Given the description of an element on the screen output the (x, y) to click on. 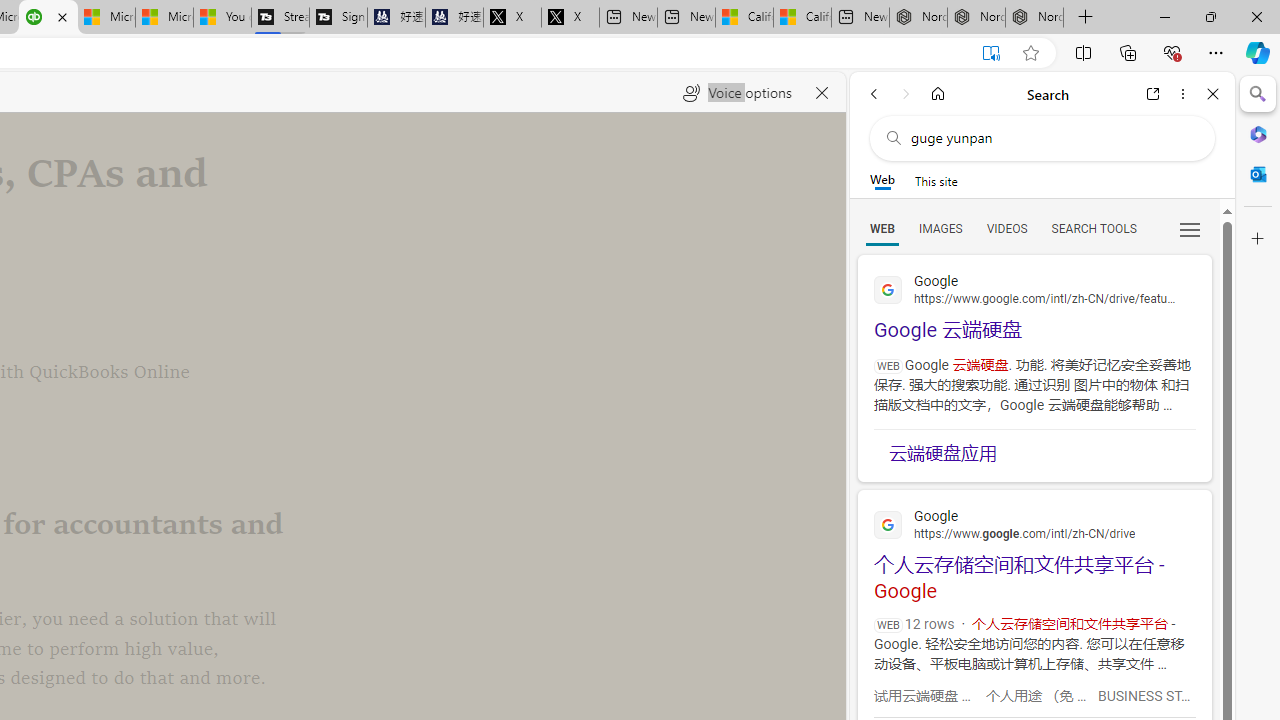
Search Filter, VIDEOS (1006, 228)
Accounting Software for Accountants, CPAs and Bookkeepers (48, 17)
Google (1034, 523)
Open link in new tab (1153, 93)
Search Filter, Search Tools (1093, 228)
Search the web (1051, 137)
